Given the description of an element on the screen output the (x, y) to click on. 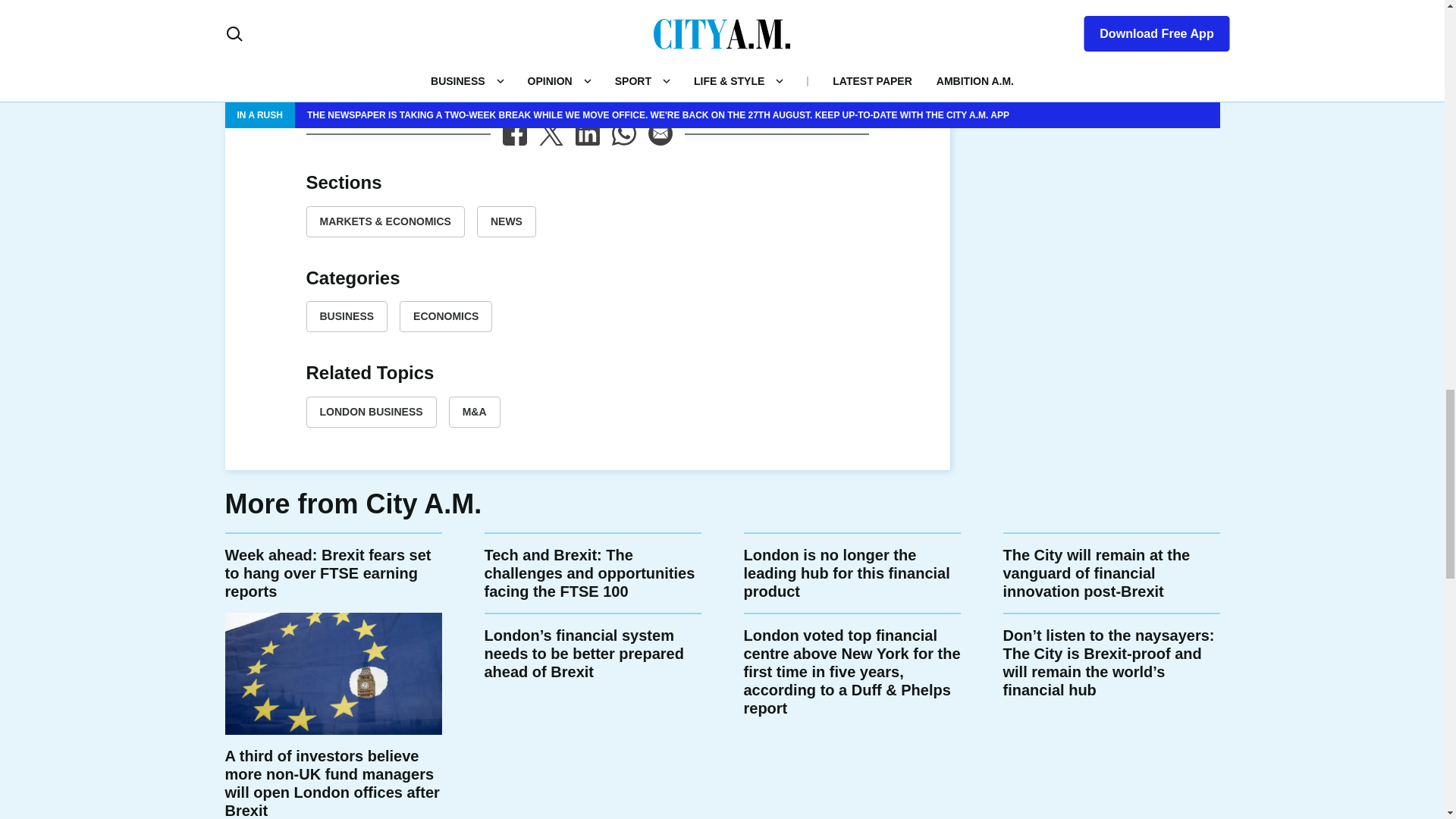
LinkedIn (586, 133)
X (550, 133)
Facebook (513, 133)
Email (659, 133)
WhatsApp (622, 133)
